Given the description of an element on the screen output the (x, y) to click on. 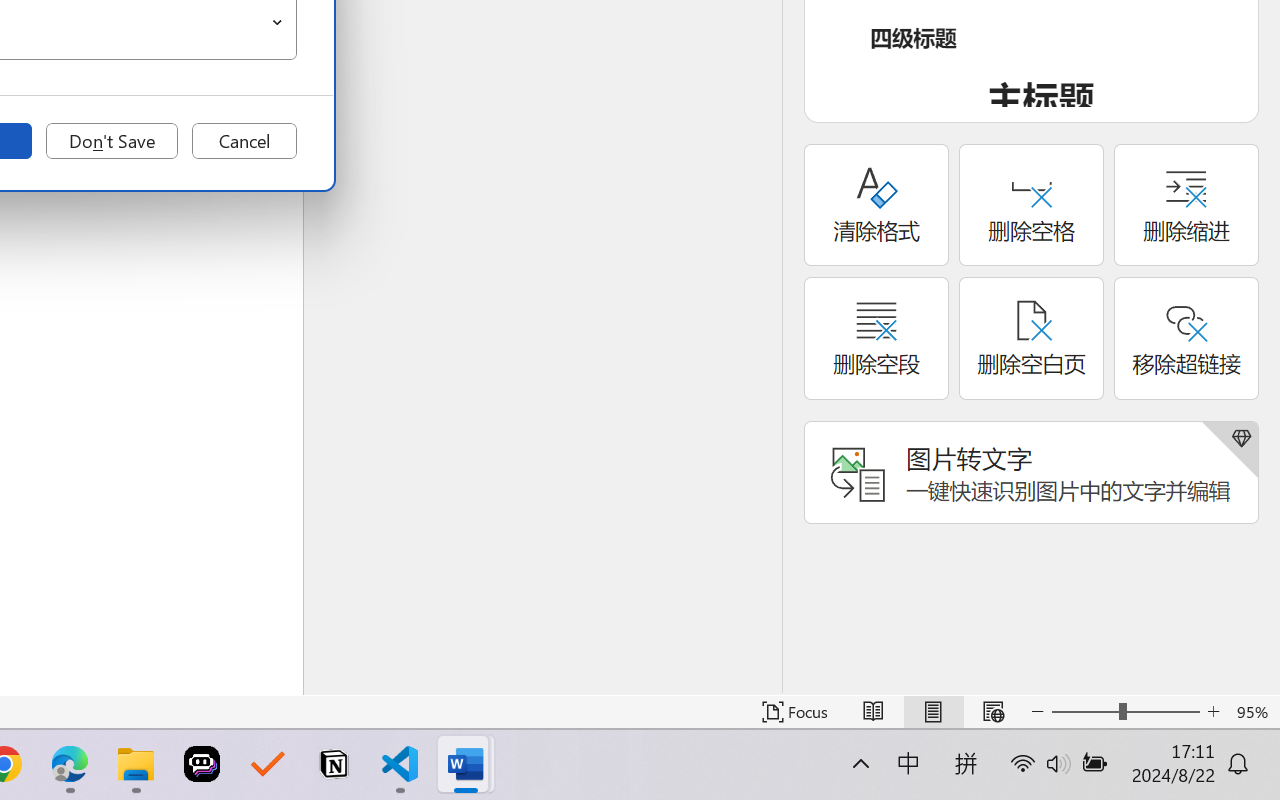
Zoom 95% (1253, 712)
